Given the description of an element on the screen output the (x, y) to click on. 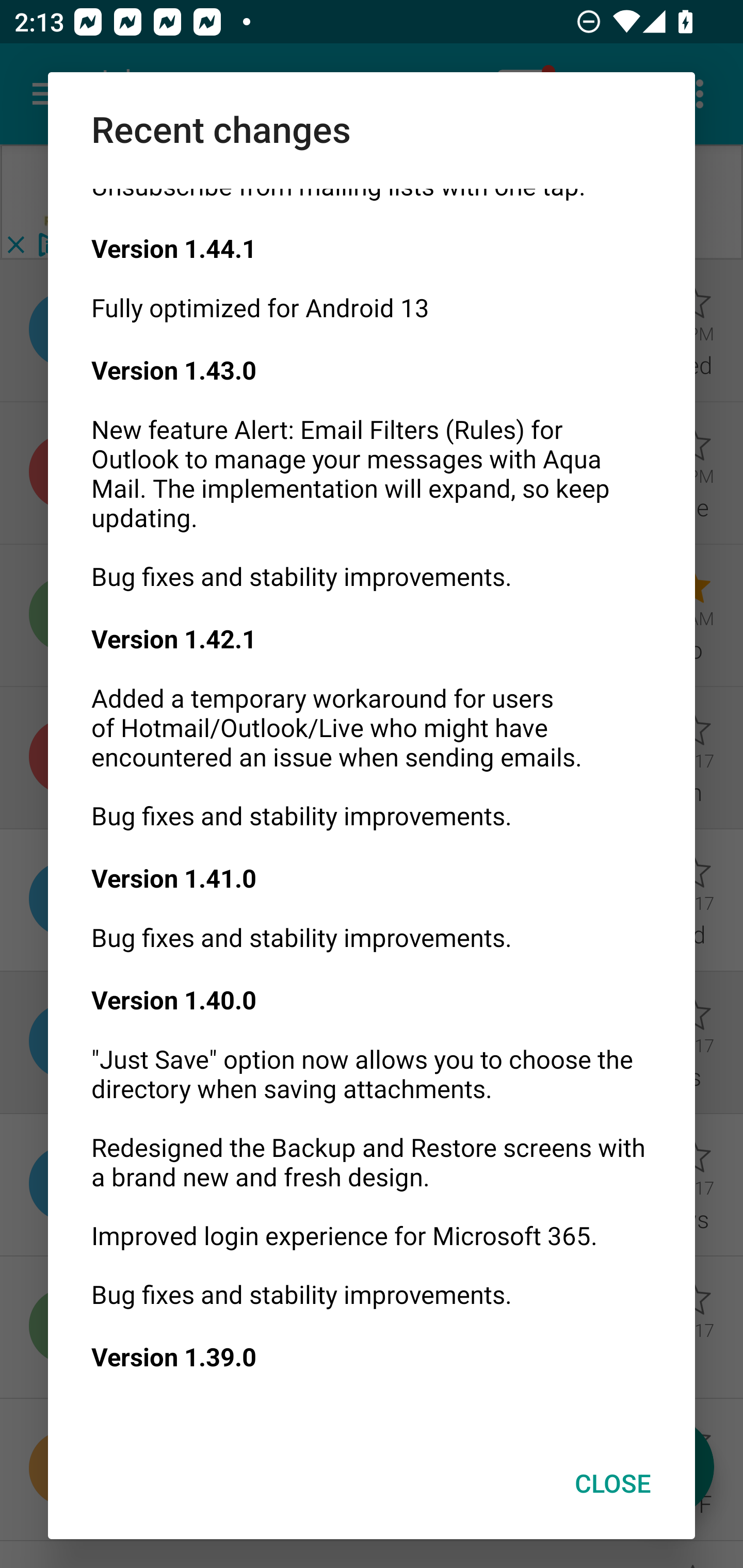
CLOSE (612, 1482)
